Given the description of an element on the screen output the (x, y) to click on. 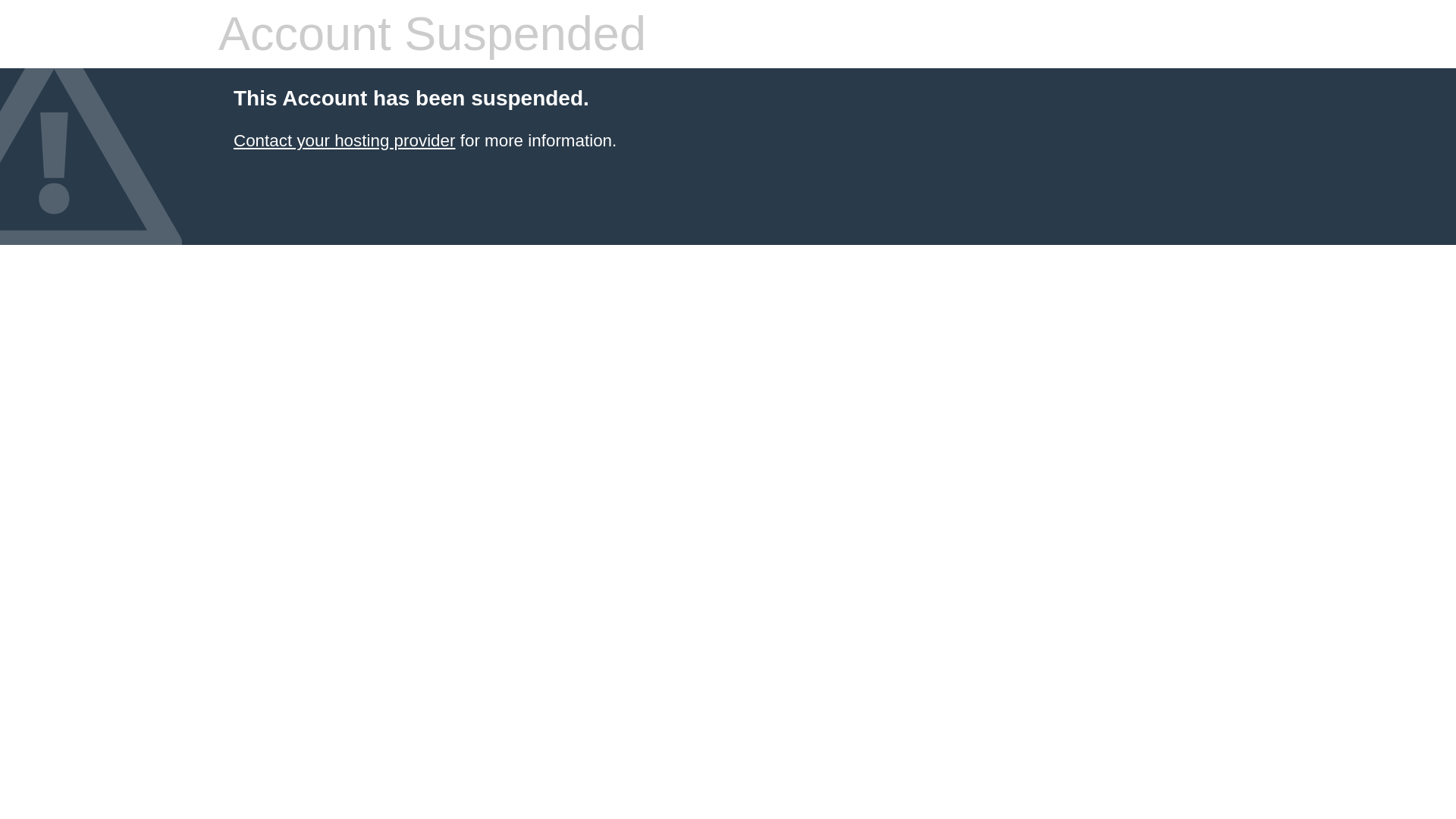
Contact your hosting provider (343, 140)
